Given the description of an element on the screen output the (x, y) to click on. 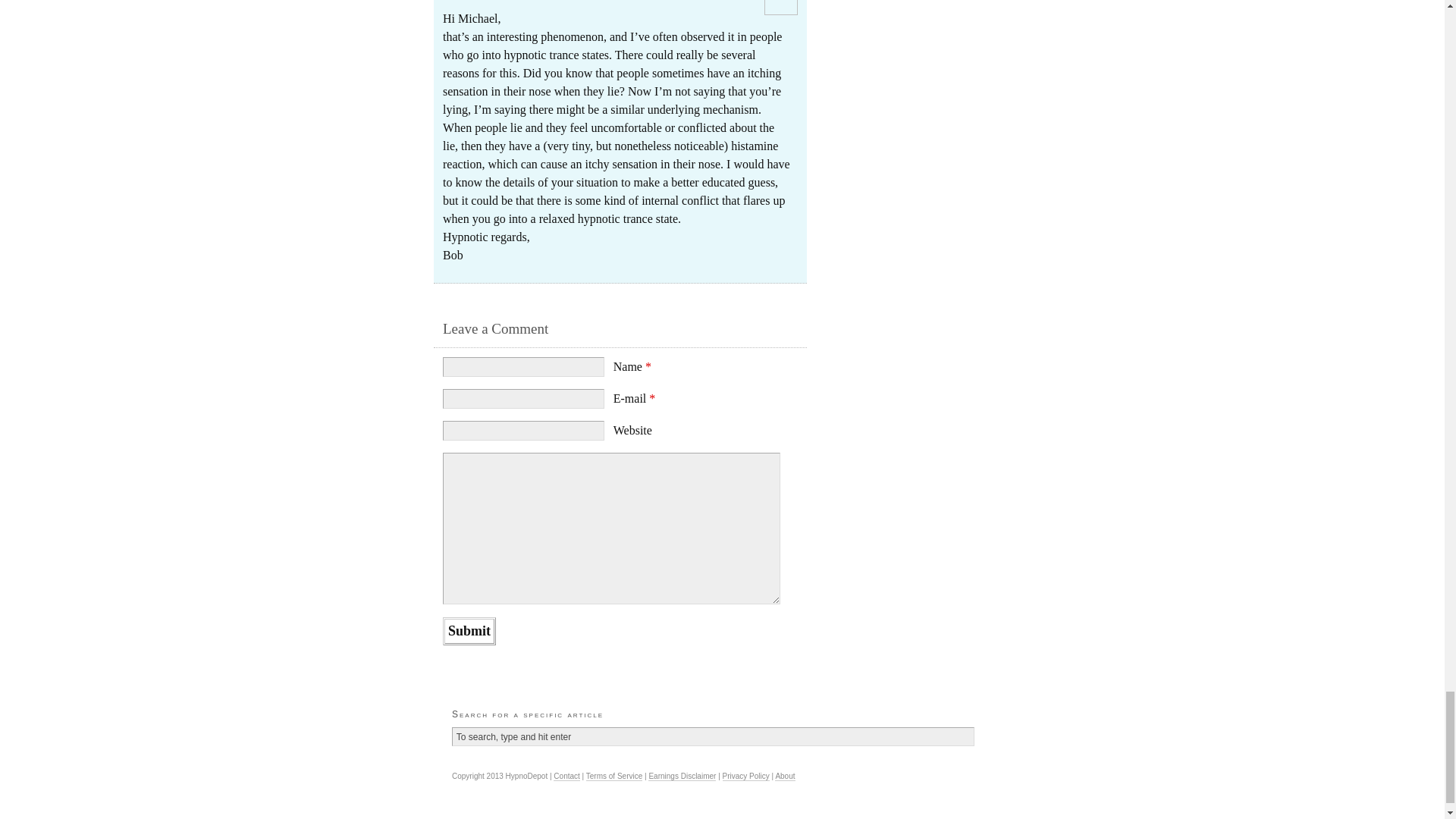
Submit (469, 631)
Submit (469, 631)
To search, type and hit enter (712, 736)
